Given the description of an element on the screen output the (x, y) to click on. 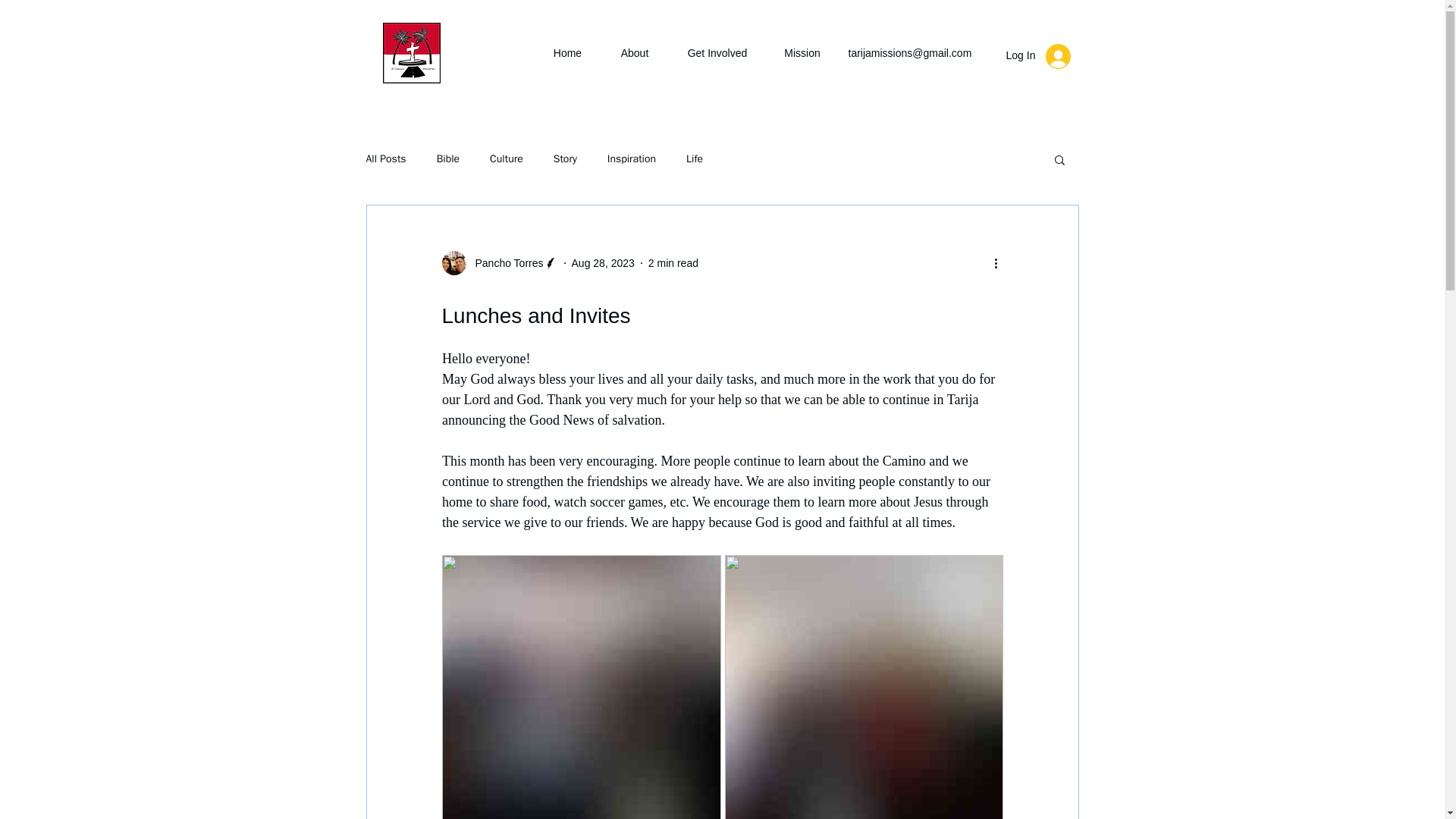
Pancho Torres (499, 262)
Pancho Torres (504, 263)
Bible (448, 159)
Home (566, 52)
Log In (1037, 56)
Inspiration (631, 159)
About (633, 52)
Life (694, 159)
Story (564, 159)
Culture (505, 159)
2 min read (672, 263)
Get Involved (717, 52)
All Posts (385, 159)
Aug 28, 2023 (603, 263)
Mission (801, 52)
